Given the description of an element on the screen output the (x, y) to click on. 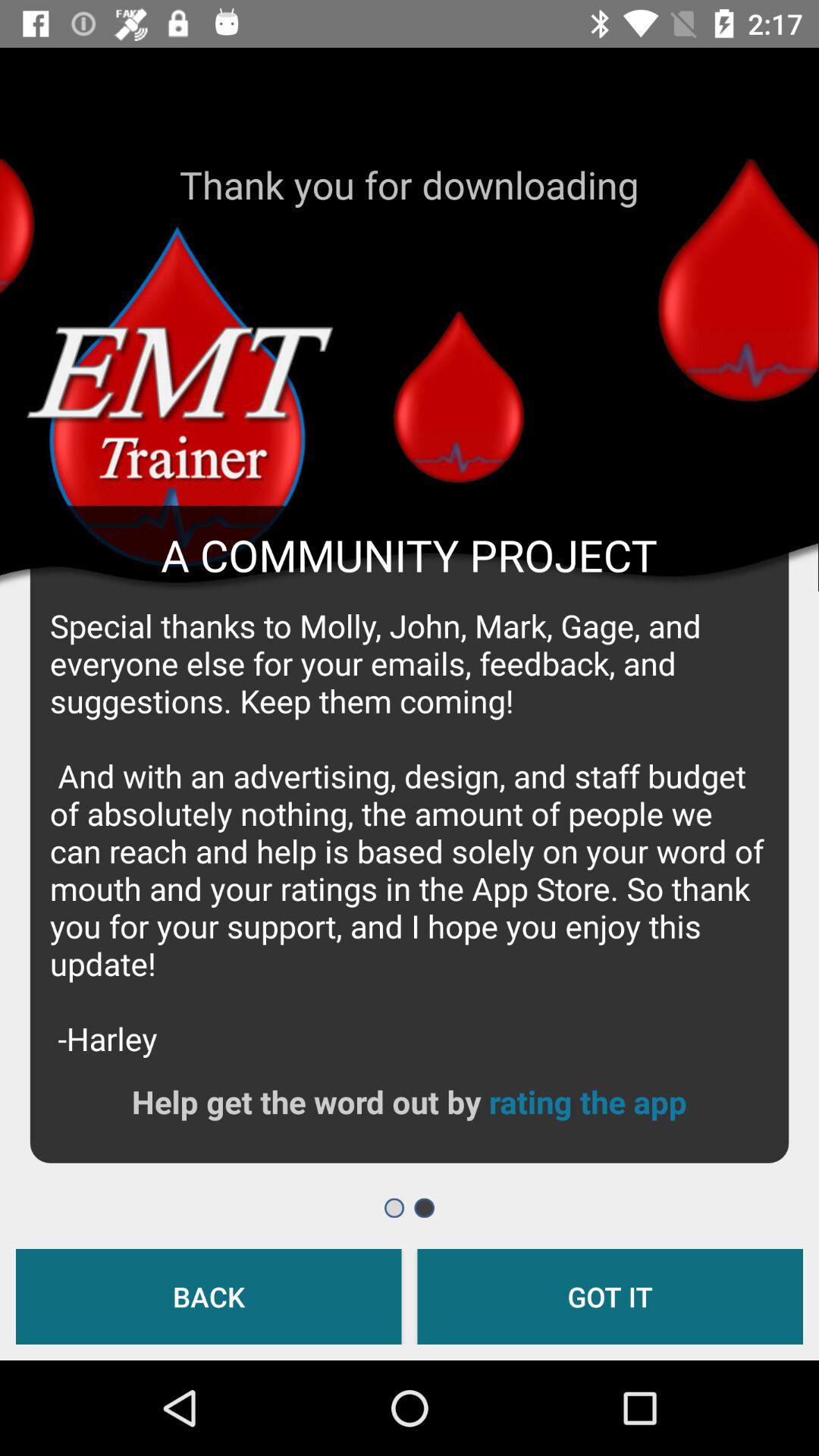
launch the icon next to got it (208, 1296)
